Given the description of an element on the screen output the (x, y) to click on. 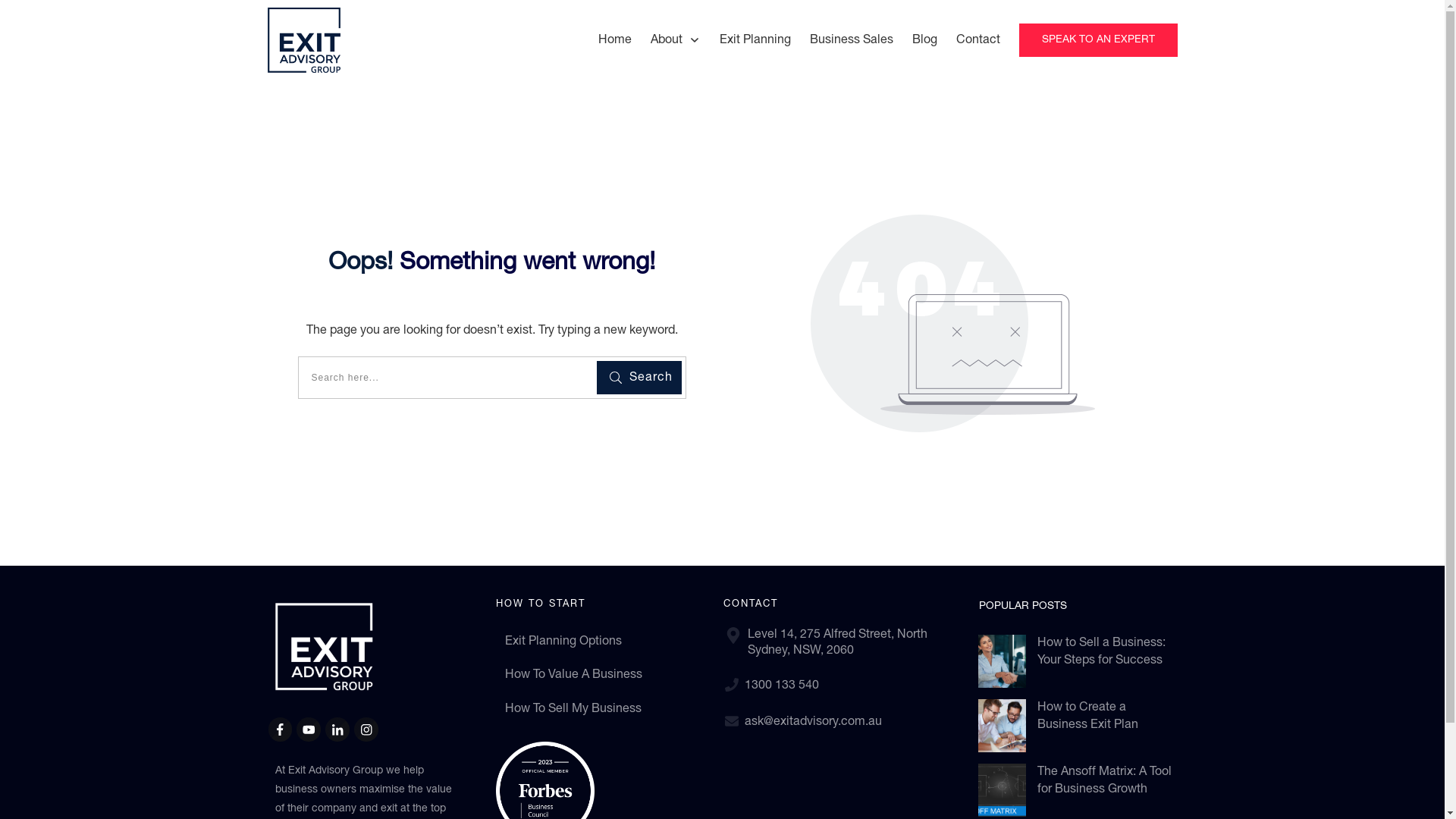
How to Create a Business Exit Plan Element type: text (1087, 715)
How To Value A Business Element type: text (573, 674)
Blog Element type: text (924, 40)
About Element type: text (675, 40)
SPEAK TO AN EXPERT Element type: text (1098, 40)
The Ansoff Matrix: A Tool for Business Growth Element type: text (1104, 779)
How to Sell a Business: Your Steps for Success Element type: text (1101, 651)
Search Element type: text (638, 377)
How To Sell My Business Element type: text (573, 708)
Business Sales Element type: text (851, 40)
Exit Planning Options Element type: text (563, 641)
Home Element type: text (614, 40)
404 Element type: hover (952, 323)
Contact Element type: text (978, 40)
Exit Planning Element type: text (754, 40)
